Given the description of an element on the screen output the (x, y) to click on. 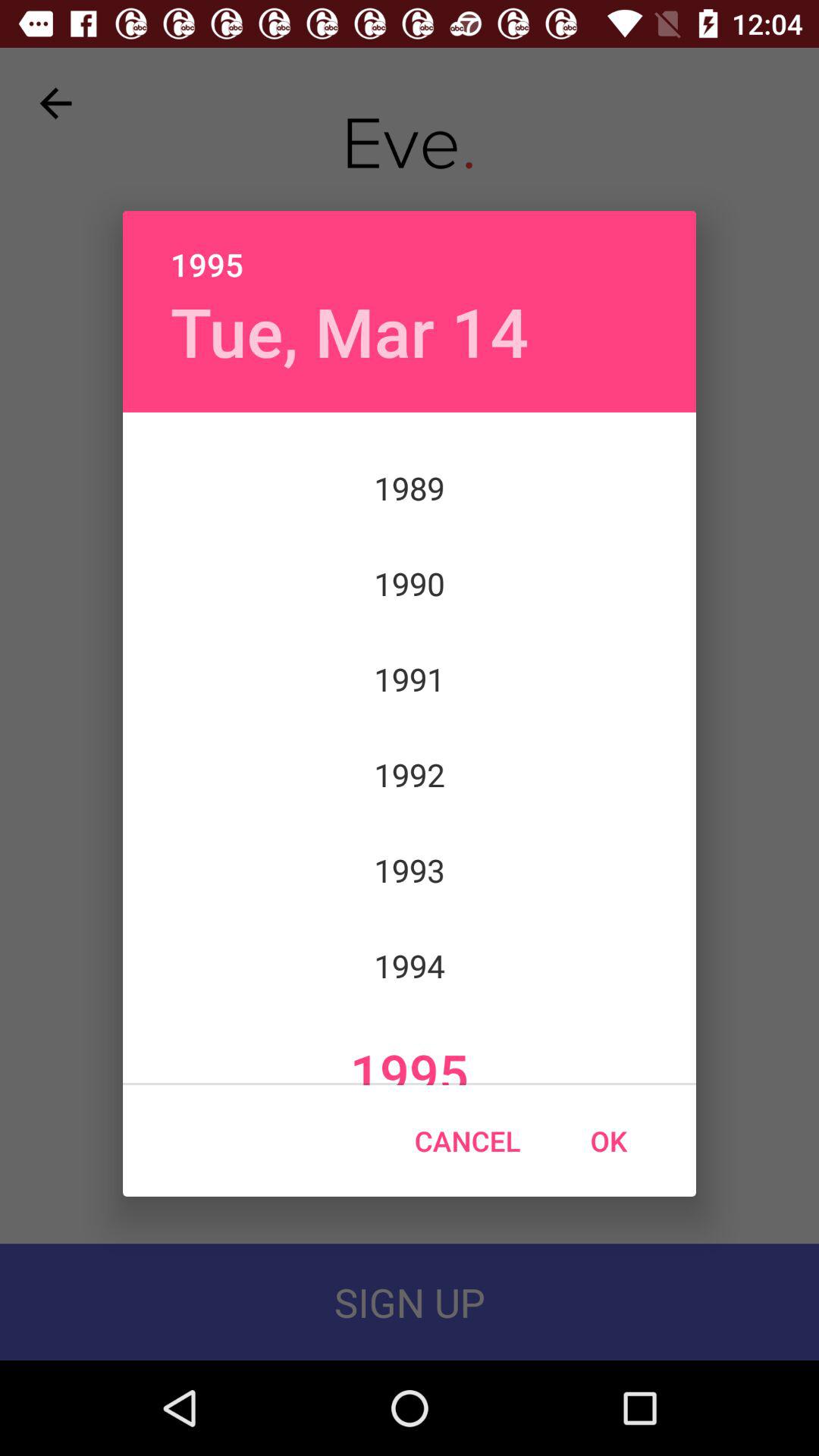
swipe to the tue, mar 14 item (349, 331)
